Given the description of an element on the screen output the (x, y) to click on. 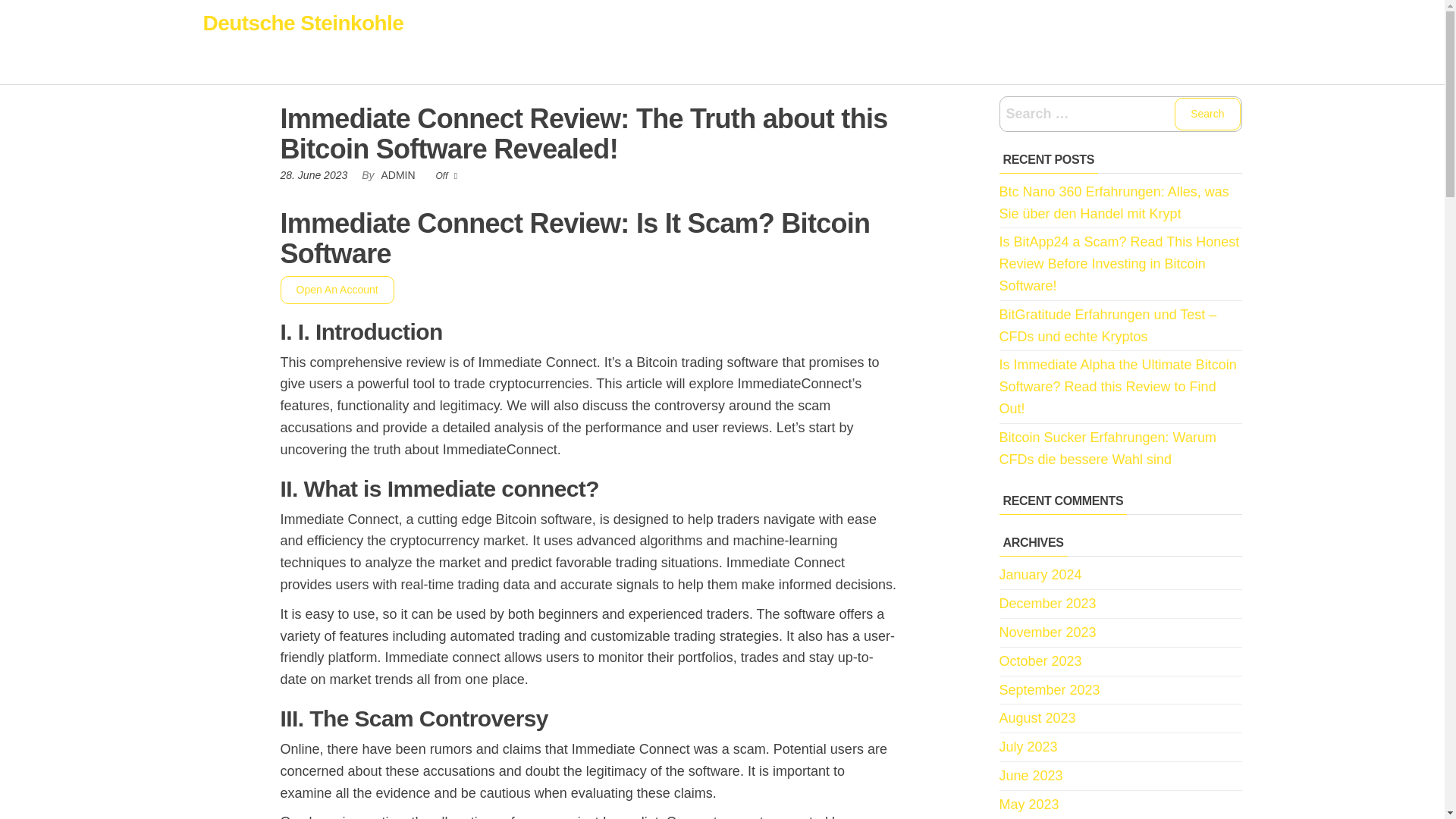
November 2023 (1047, 631)
Search (1207, 113)
Search (1207, 113)
May 2023 (1028, 804)
July 2023 (1028, 746)
Search (1207, 113)
September 2023 (1049, 689)
October 2023 (1039, 661)
Open An Account (337, 288)
Open An Account (337, 289)
ADMIN (398, 174)
Deutsche Steinkohle (303, 23)
Bitcoin Sucker Erfahrungen: Warum CFDs die bessere Wahl sind (1106, 447)
June 2023 (1030, 775)
August 2023 (1036, 717)
